Given the description of an element on the screen output the (x, y) to click on. 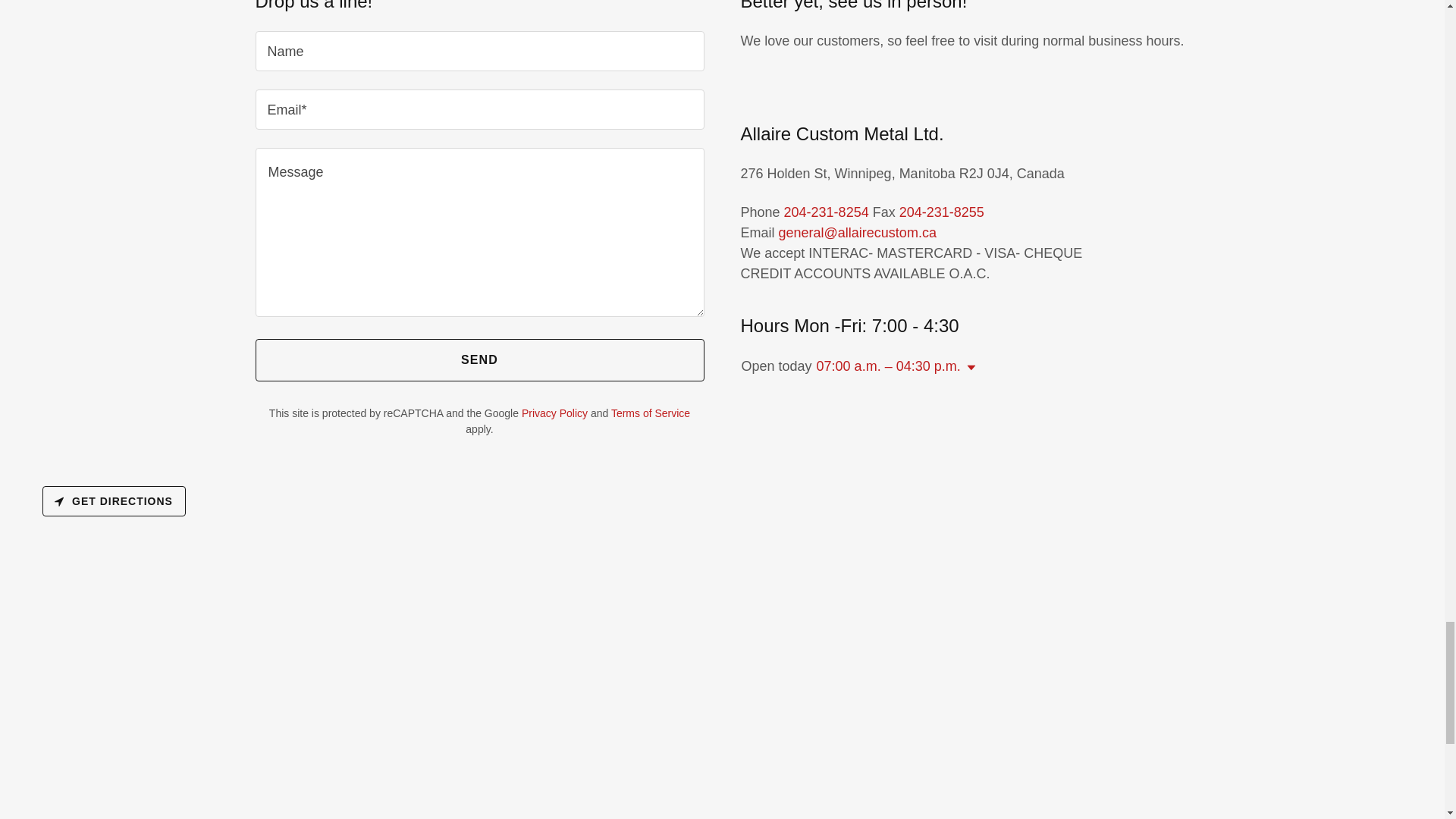
204-231-8254 (826, 212)
204-231-8255 (941, 212)
GET DIRECTIONS (114, 501)
Terms of Service (650, 413)
SEND (478, 360)
Privacy Policy (554, 413)
